Given the description of an element on the screen output the (x, y) to click on. 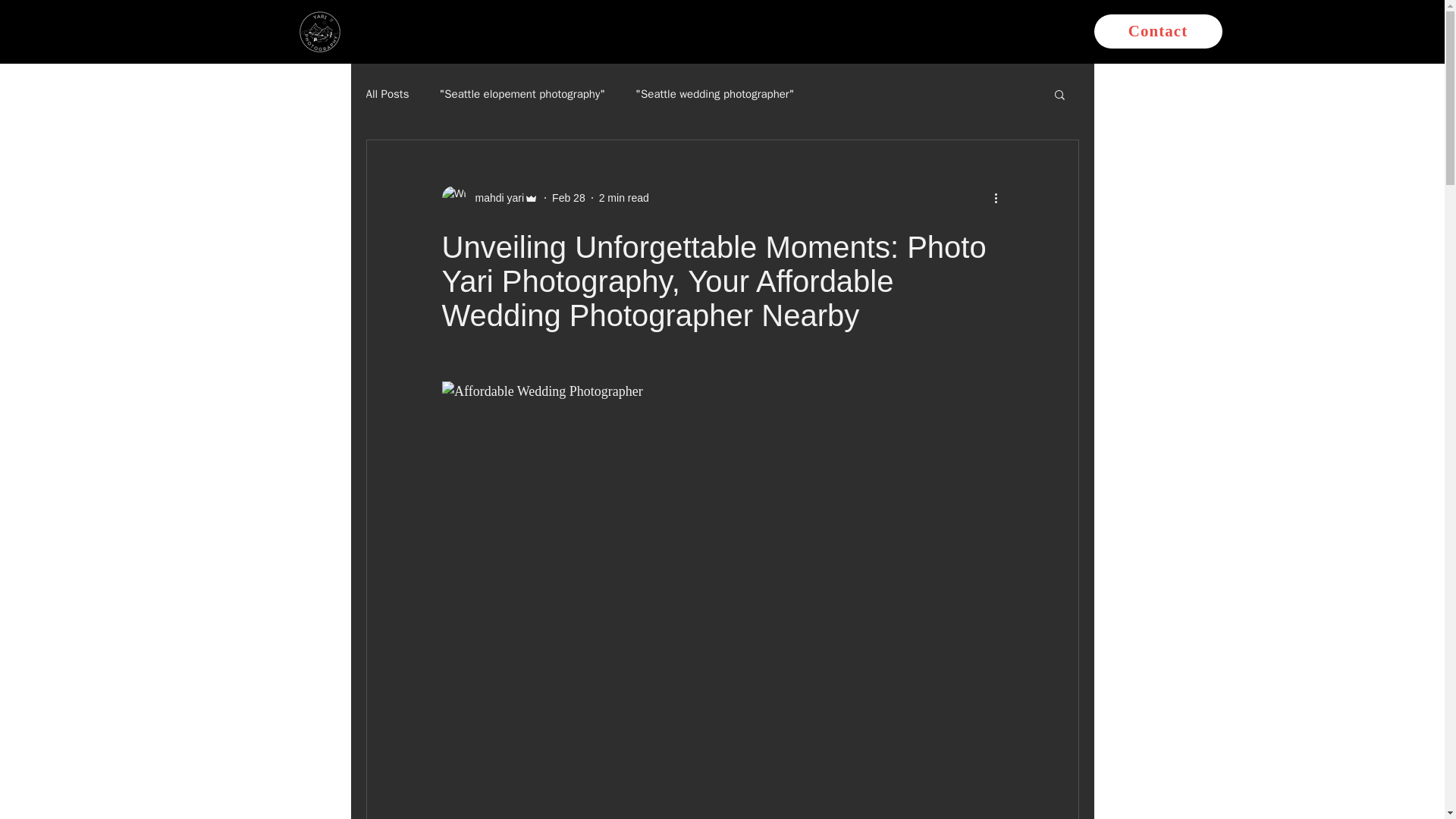
"Seattle elopement photography" (522, 93)
Contact (1157, 31)
All Posts (387, 93)
mahdi yari (494, 197)
2 min read (623, 196)
"Seattle wedding photographer" (713, 93)
Feb 28 (568, 196)
mahdi yari (489, 197)
